Given the description of an element on the screen output the (x, y) to click on. 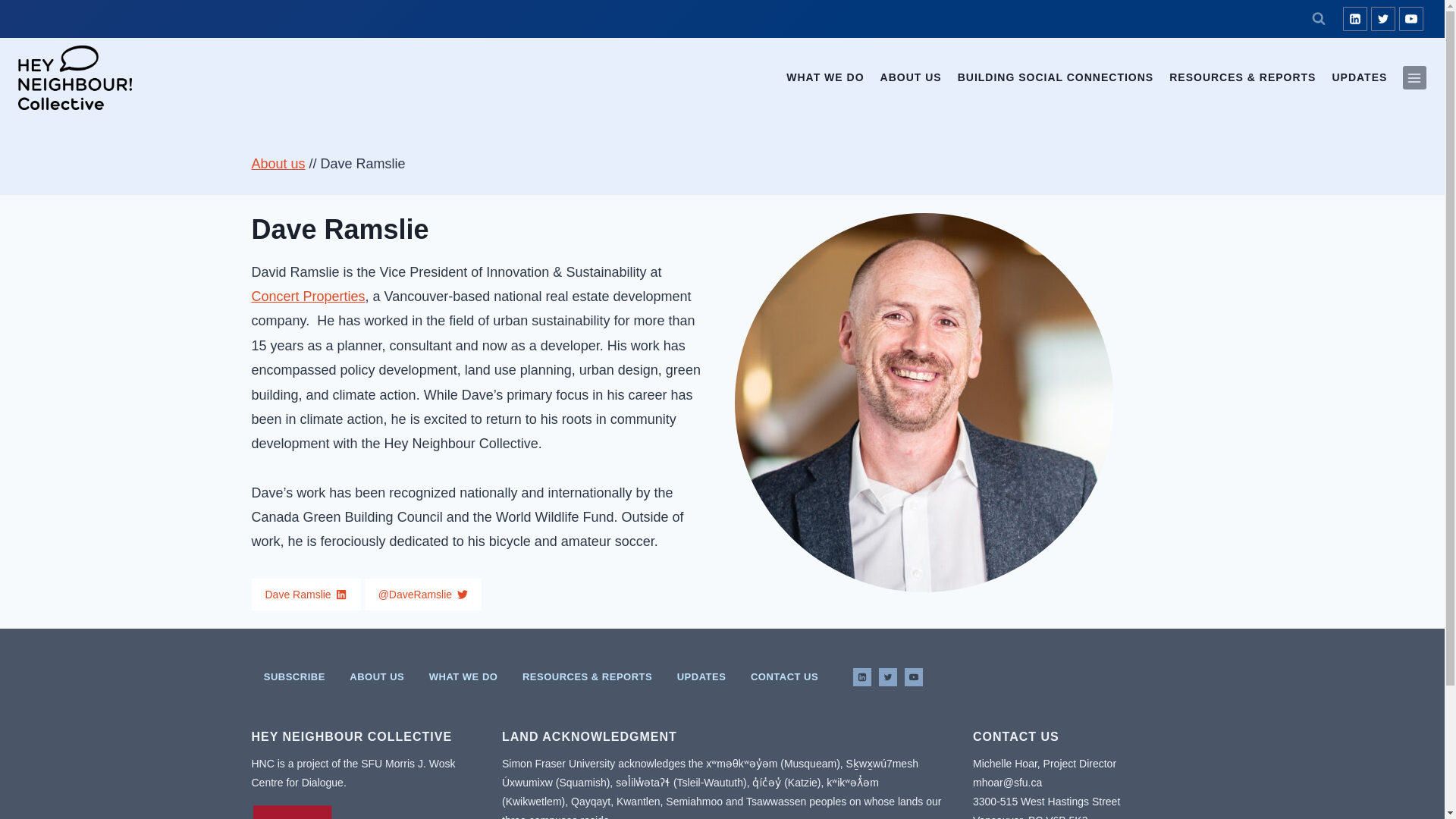
BUILDING SOCIAL CONNECTIONS (1055, 78)
About us (278, 163)
UPDATES (1358, 78)
Concert Properties (308, 296)
Dave Ramslie (306, 594)
WHAT WE DO (825, 78)
CONTACT US (784, 676)
SUBSCRIBE (294, 676)
UPDATES (700, 676)
ABOUT US (376, 676)
ABOUT US (910, 78)
WHAT WE DO (462, 676)
